Given the description of an element on the screen output the (x, y) to click on. 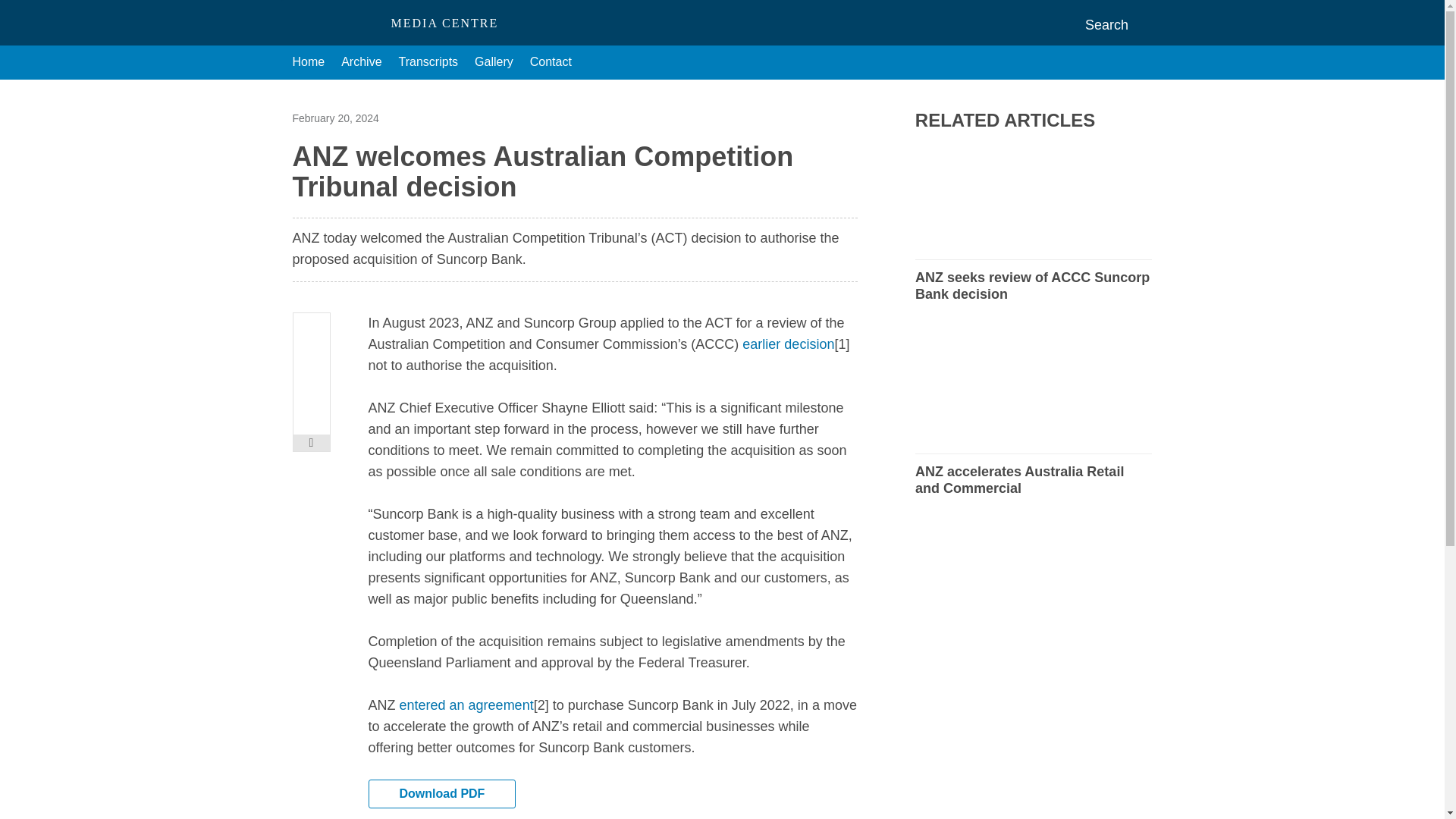
Download PDF (442, 793)
Archive (360, 62)
Transcripts (428, 62)
Search (1118, 24)
Home (308, 62)
ANZ seeks review of ACCC Suncorp Bank decision (1033, 285)
ANZ Logo (335, 22)
Contact (550, 62)
Media Centre Homepage (335, 22)
ANZ accelerates Australia Retail and Commercial (1033, 479)
